Given the description of an element on the screen output the (x, y) to click on. 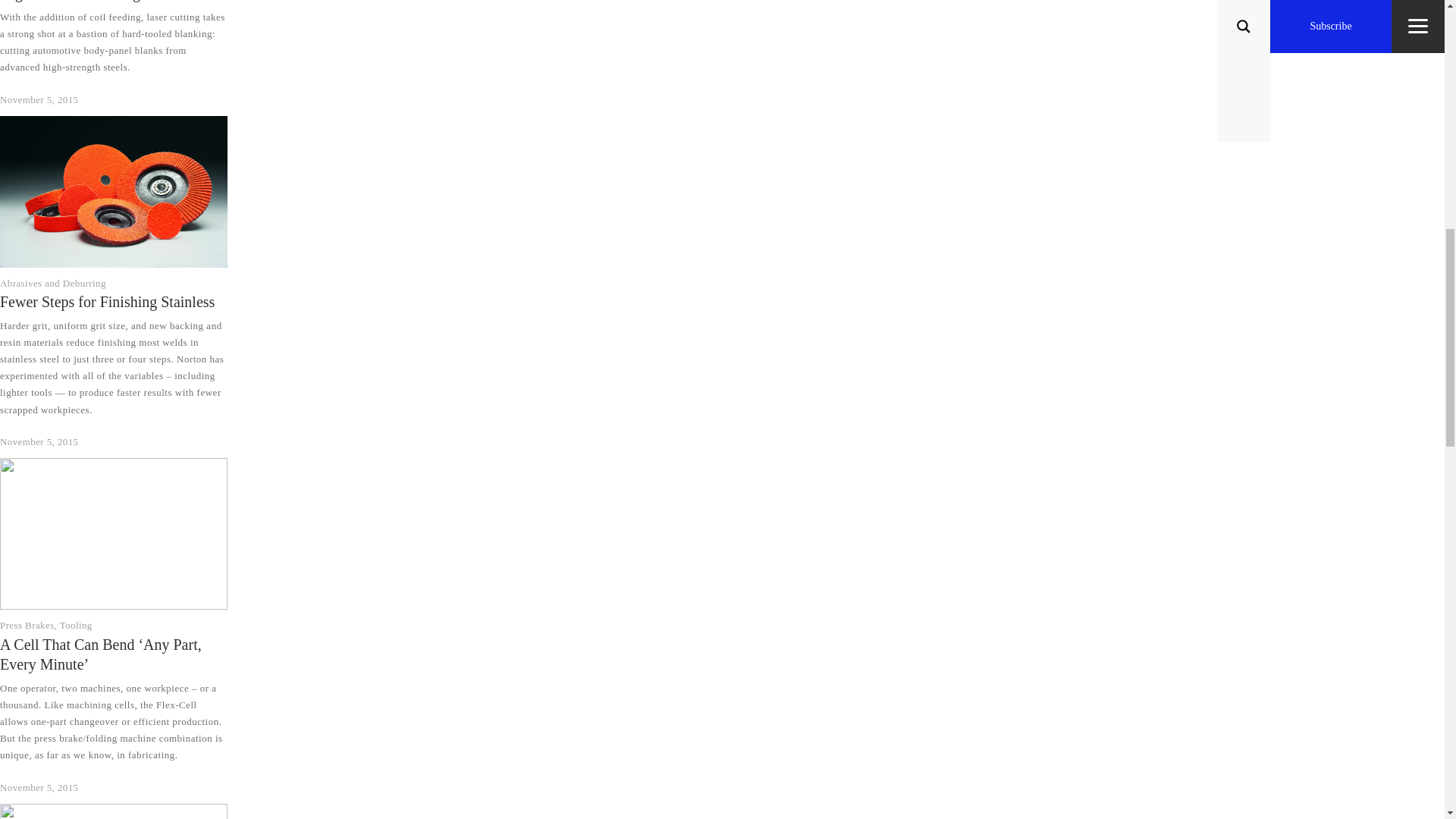
Tooling (76, 624)
Abrasives and Deburring (53, 283)
Press Brakes (27, 624)
Fewer Steps for Finishing Stainless (107, 301)
